Given the description of an element on the screen output the (x, y) to click on. 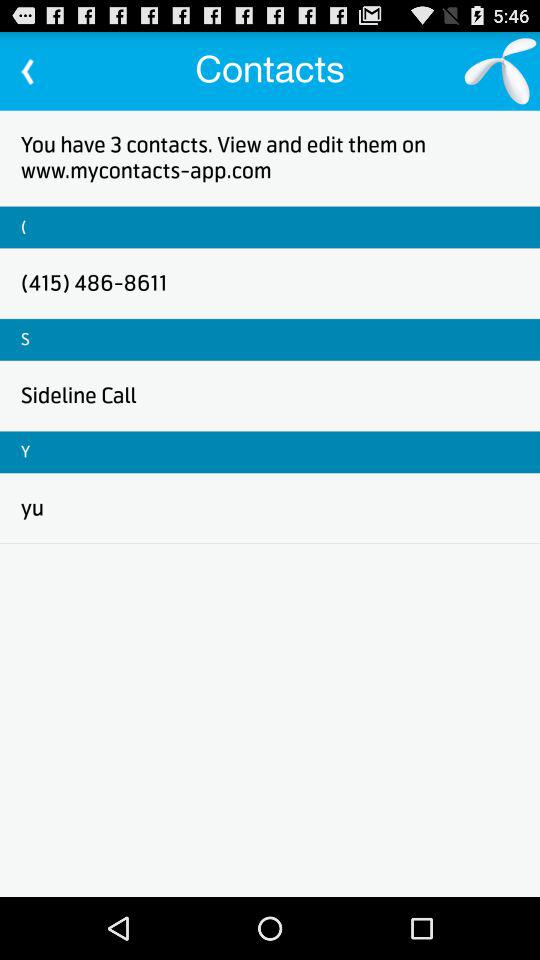
scroll to the you have 3 (270, 157)
